Given the description of an element on the screen output the (x, y) to click on. 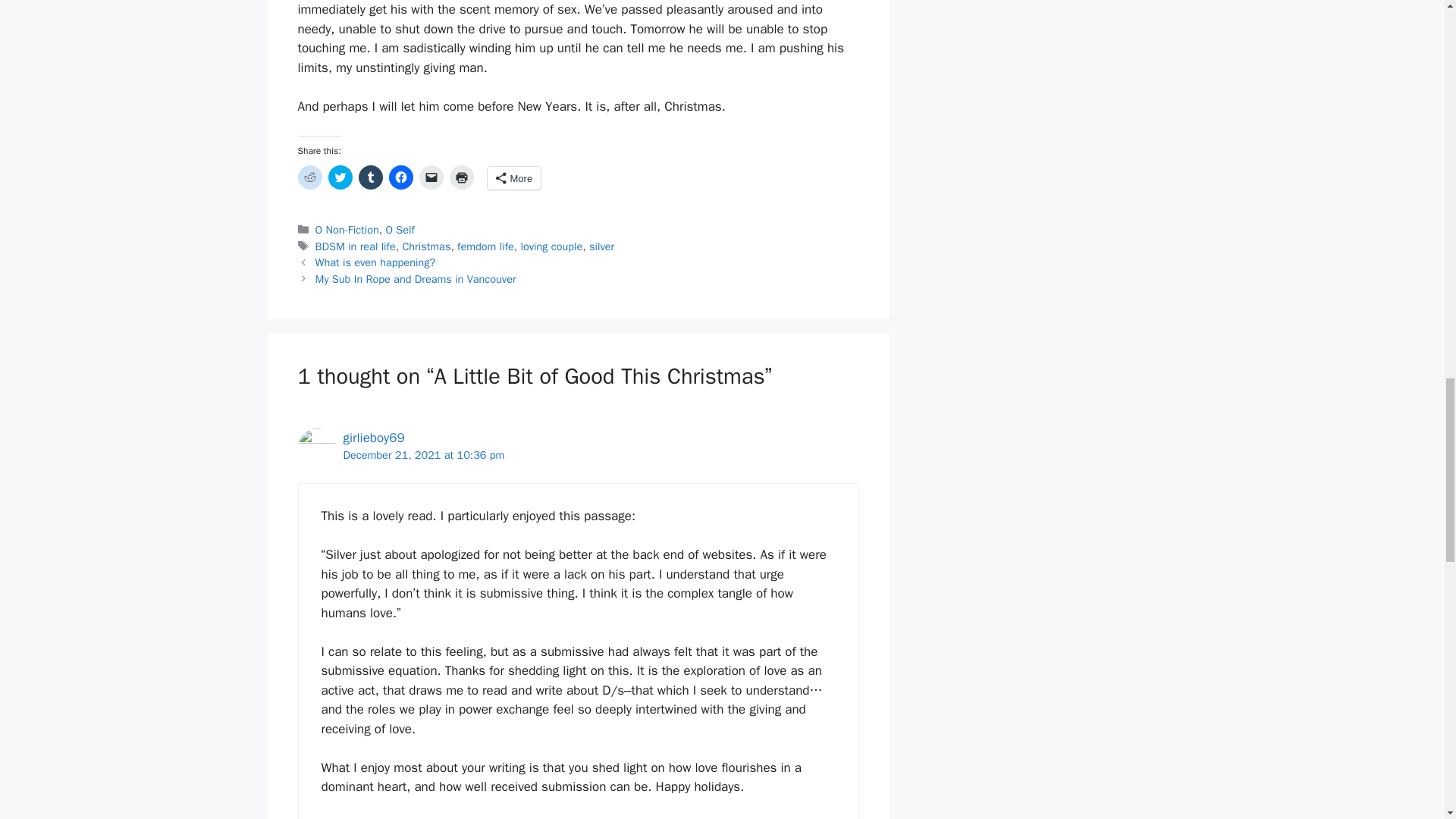
More (513, 178)
loving couple (550, 246)
Click to share on Reddit (309, 177)
Click to share on Twitter (339, 177)
femdom life (485, 246)
O Self (399, 229)
silver (601, 246)
Click to email a link to a friend (430, 177)
What is even happening? (375, 262)
BDSM in real life (355, 246)
Click to share on Tumblr (369, 177)
December 21, 2021 at 10:36 pm (422, 454)
My Sub In Rope and Dreams in Vancouver (415, 278)
girlieboy69 (373, 437)
Click to print (460, 177)
